Given the description of an element on the screen output the (x, y) to click on. 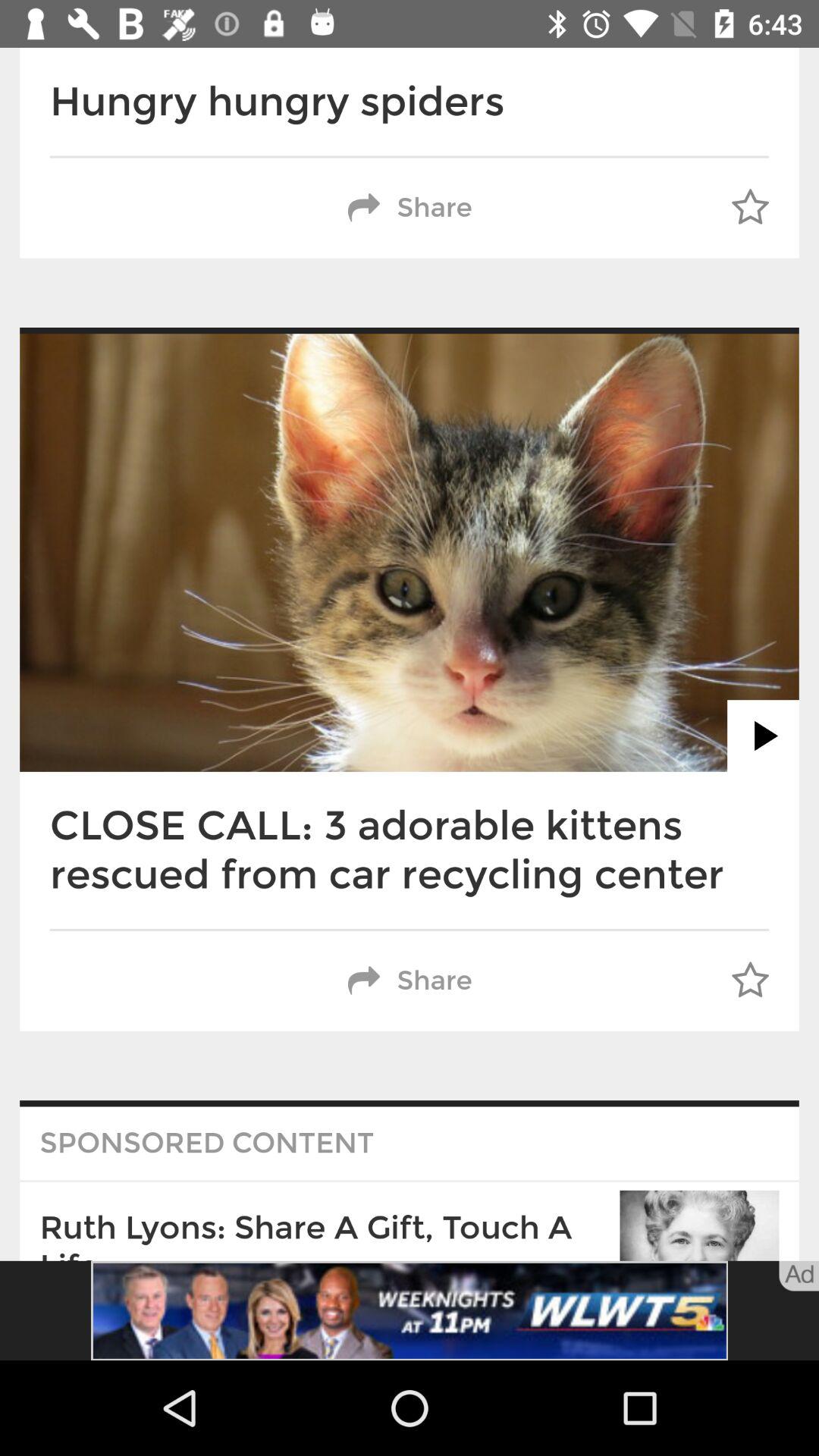
share the article (409, 1310)
